Given the description of an element on the screen output the (x, y) to click on. 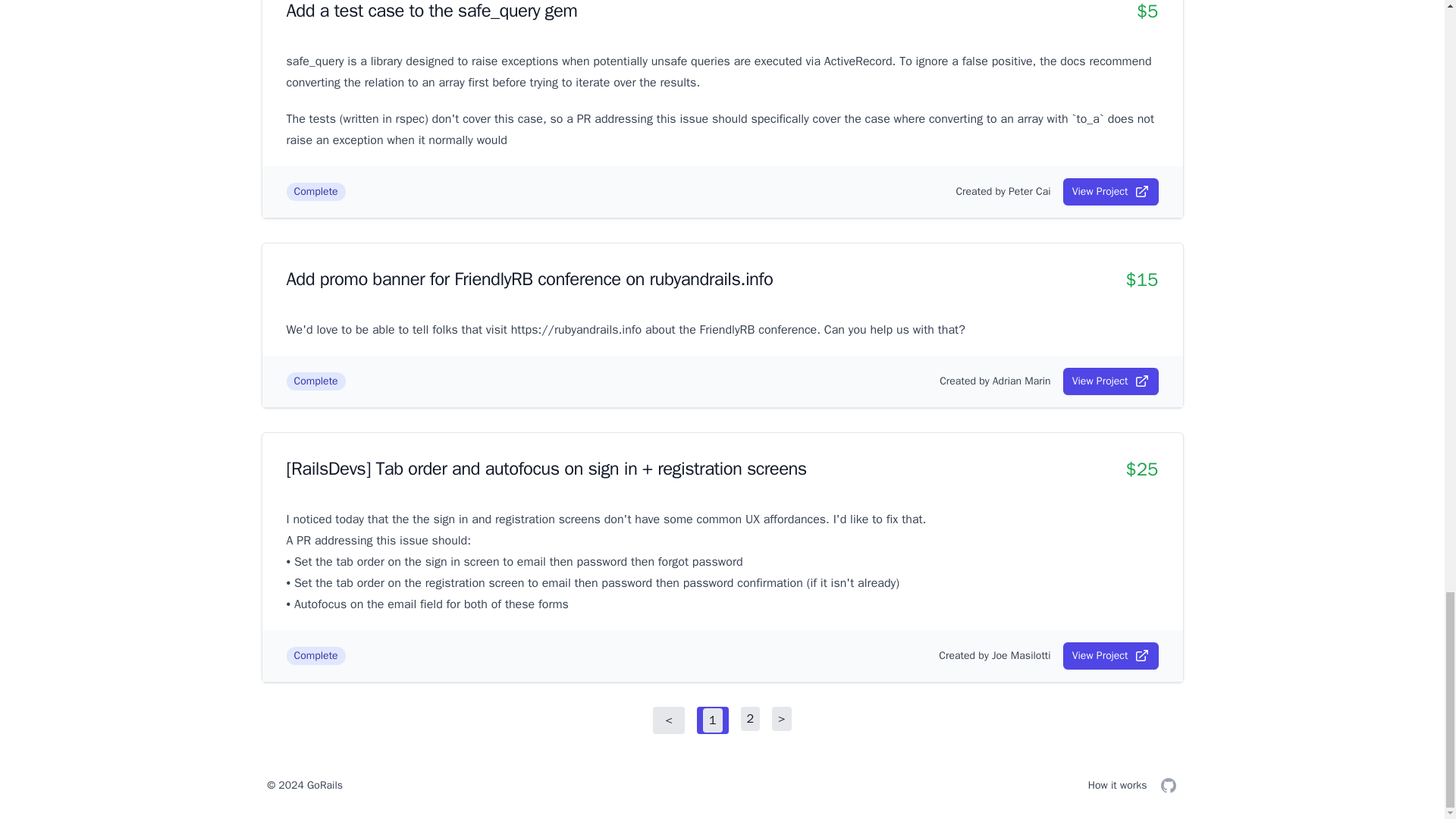
GoRails (324, 784)
View Project (1110, 380)
View Project (1110, 655)
How it works (1116, 785)
GitHub (1167, 785)
View Project (1110, 191)
